Given the description of an element on the screen output the (x, y) to click on. 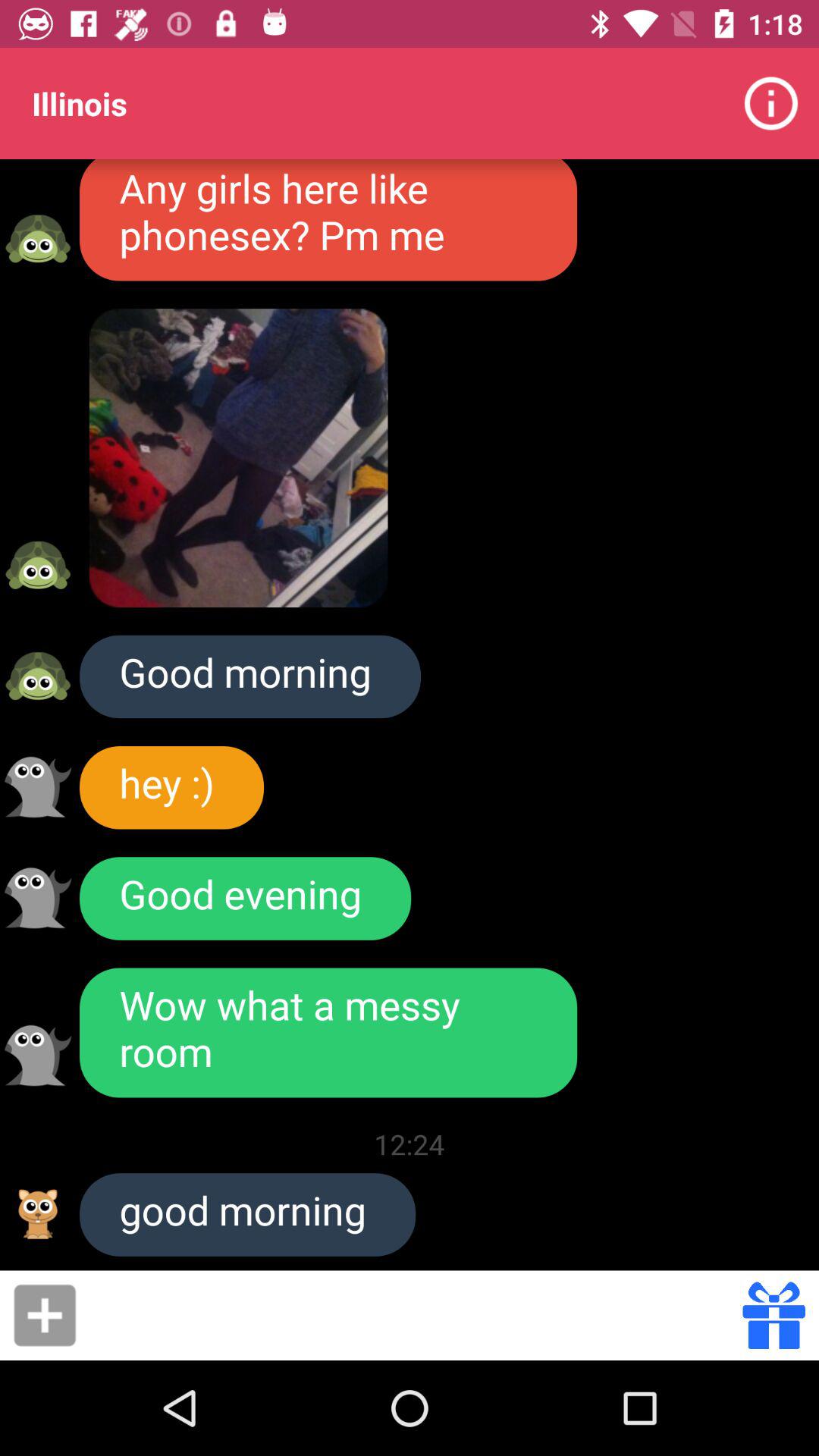
swipe to the good evening  item (245, 898)
